Given the description of an element on the screen output the (x, y) to click on. 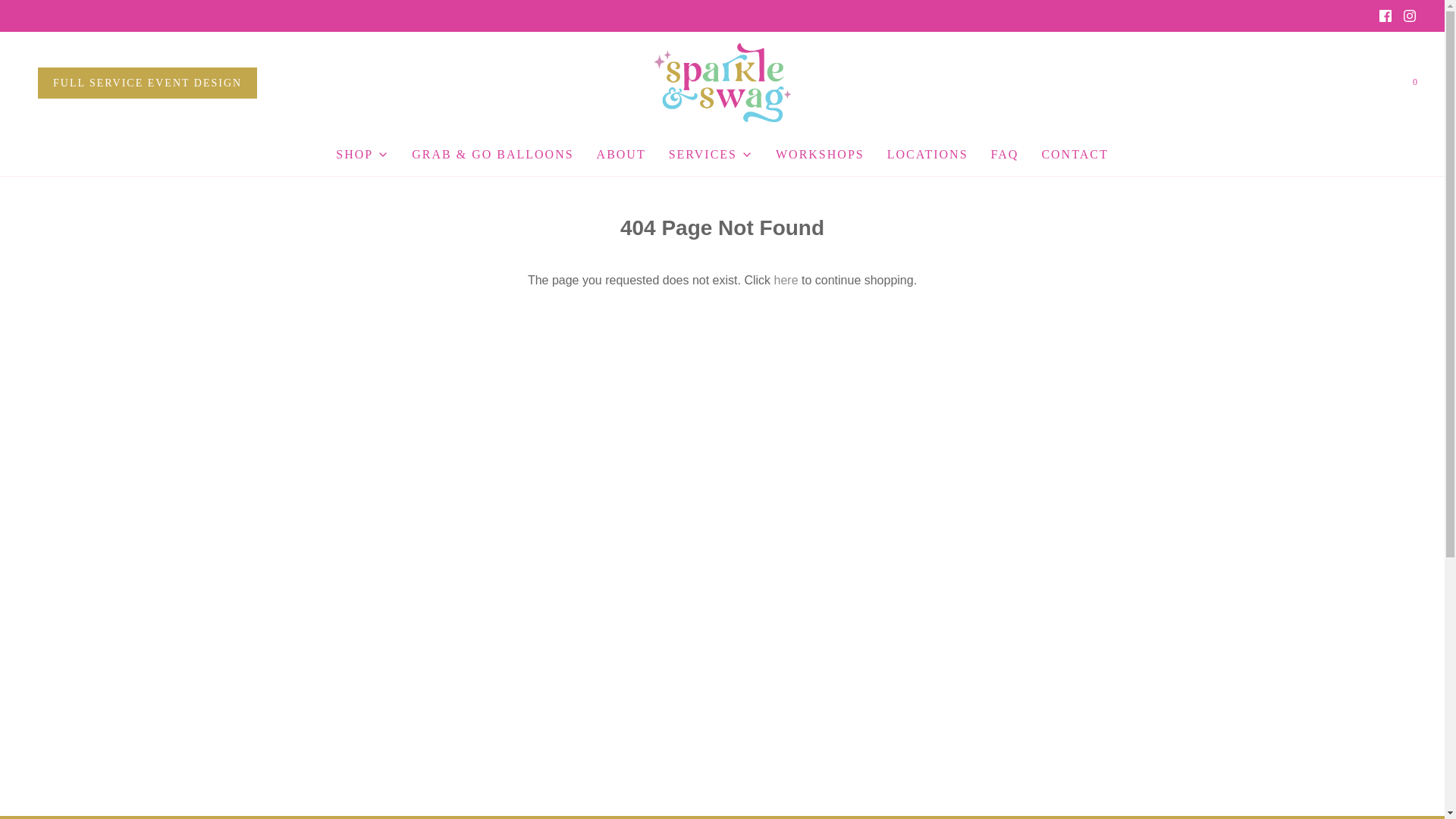
SHOP (362, 154)
0 (1414, 82)
FULL SERVICE EVENT DESIGN (147, 82)
Facebook icon (1385, 15)
Cart (1414, 82)
Facebook icon (1384, 15)
Instagram icon (1409, 15)
Instagram icon (1409, 15)
